Given the description of an element on the screen output the (x, y) to click on. 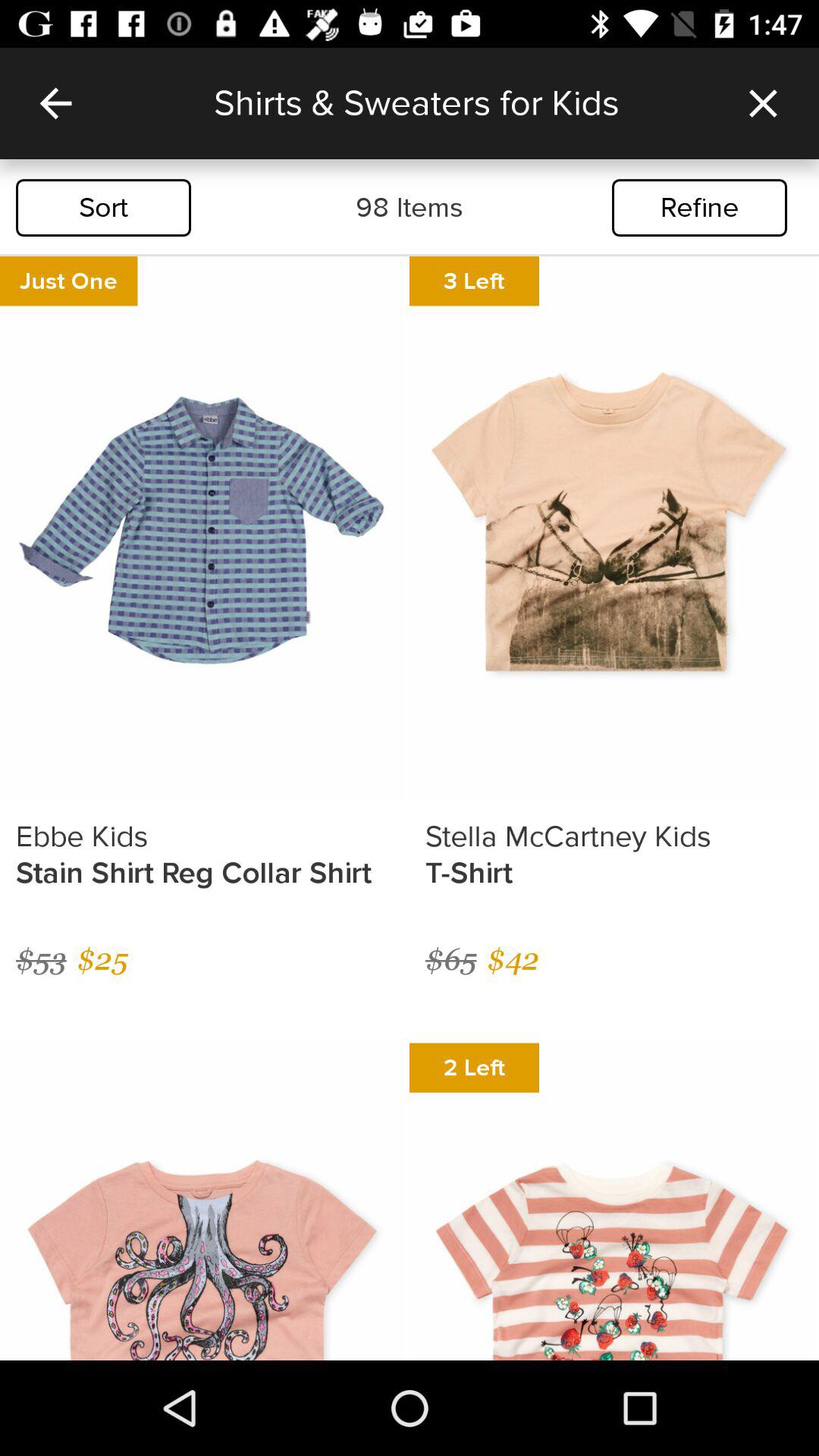
turn on the item above the sort item (55, 103)
